Given the description of an element on the screen output the (x, y) to click on. 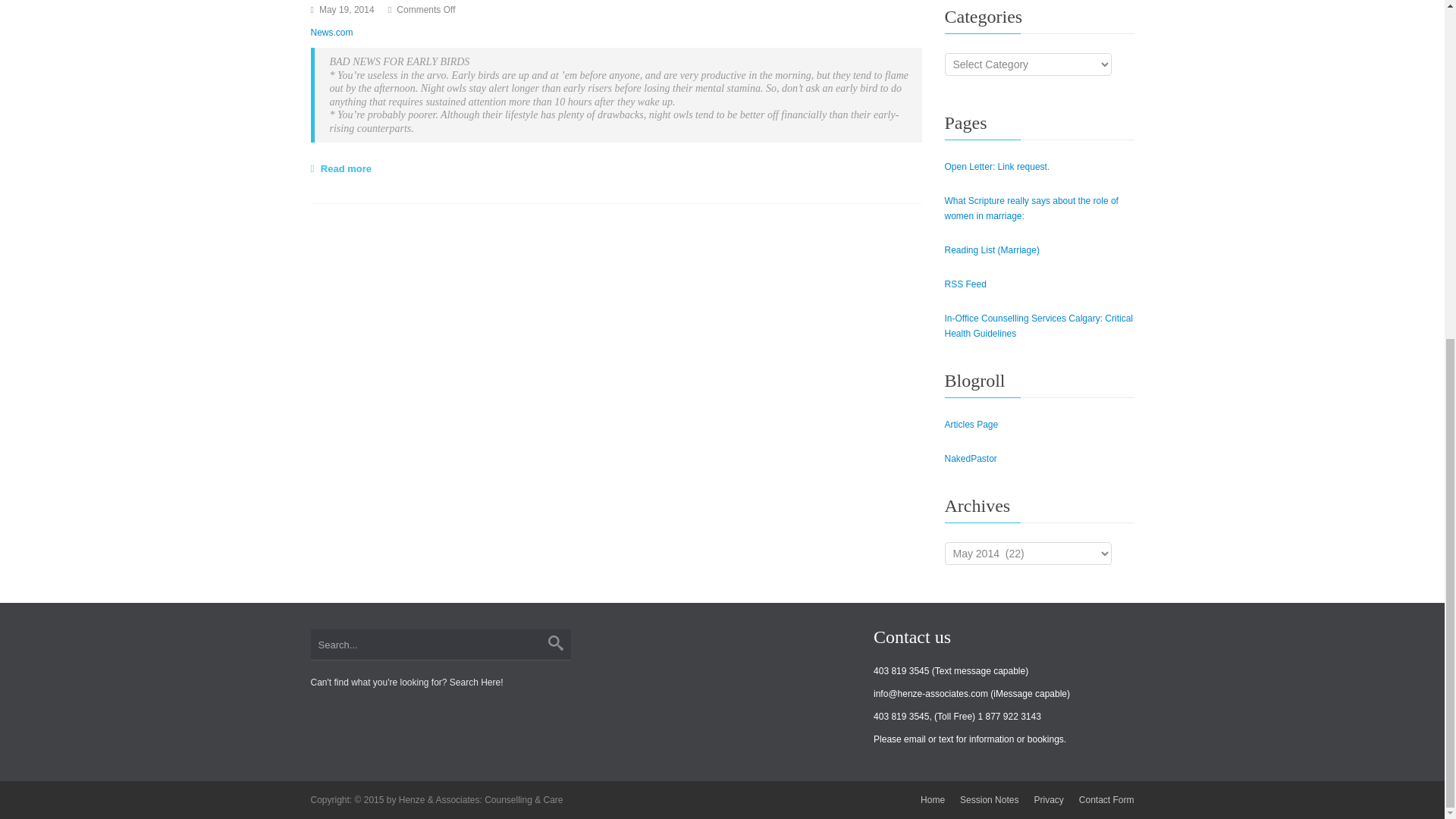
Search... (440, 644)
Search... (440, 644)
